Given the description of an element on the screen output the (x, y) to click on. 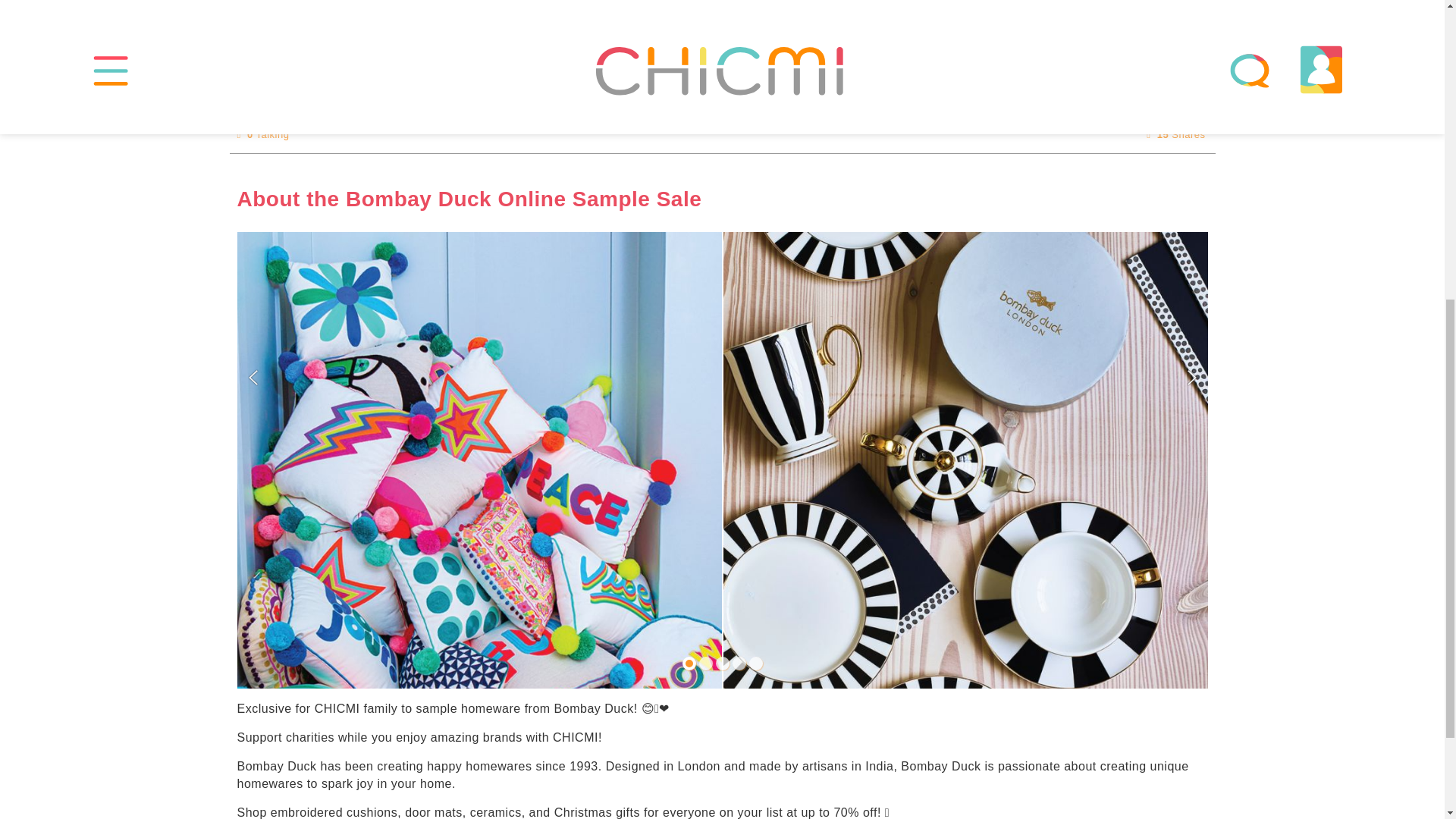
Follow (721, 1)
